Given the description of an element on the screen output the (x, y) to click on. 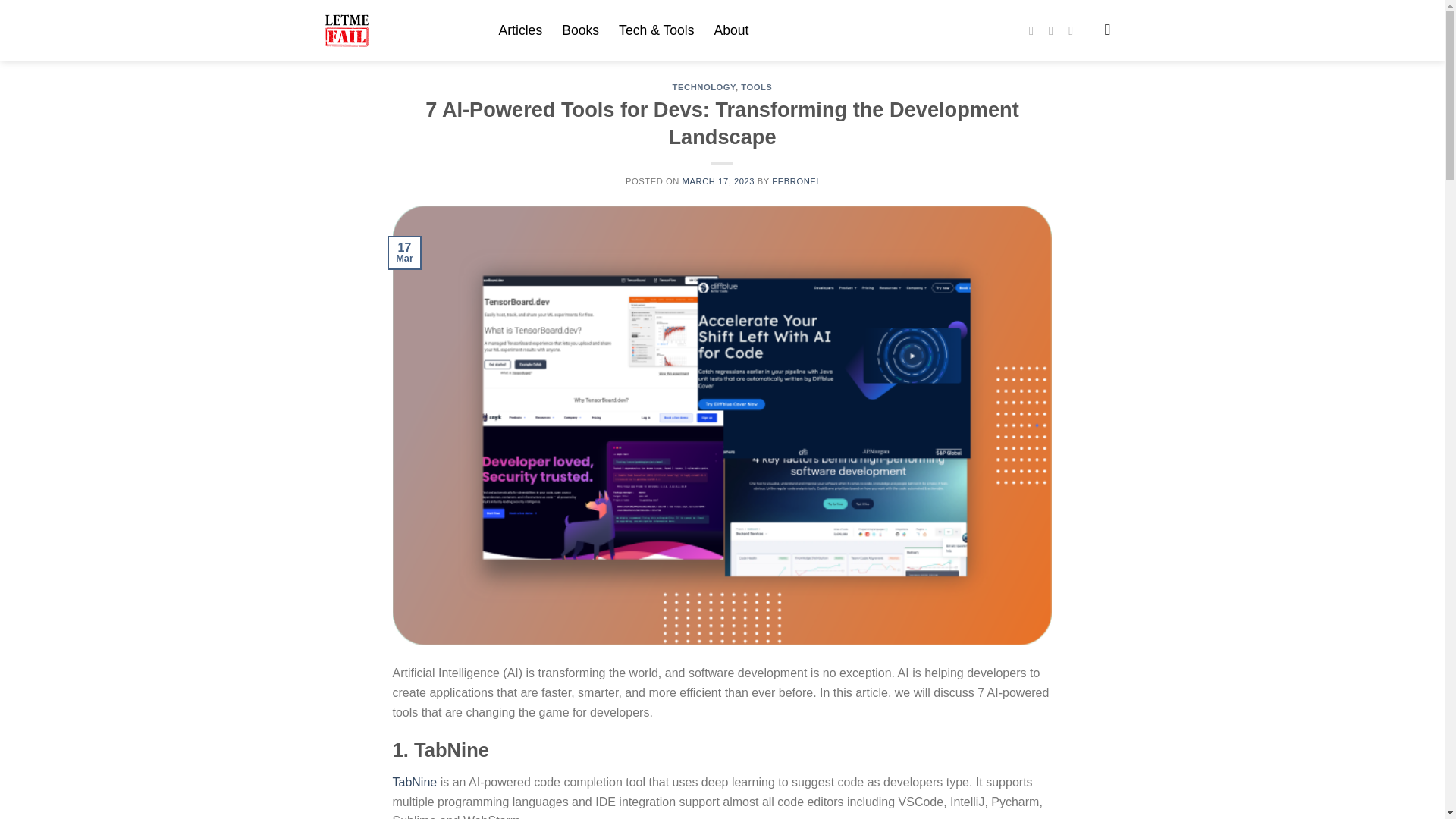
Let Me Fail - Let Me Fail (400, 30)
FEBRONEI (794, 180)
Articles (521, 29)
About (731, 29)
TabNine (415, 781)
MARCH 17, 2023 (718, 180)
Books (580, 29)
TOOLS (756, 86)
TECHNOLOGY (703, 86)
